Given the description of an element on the screen output the (x, y) to click on. 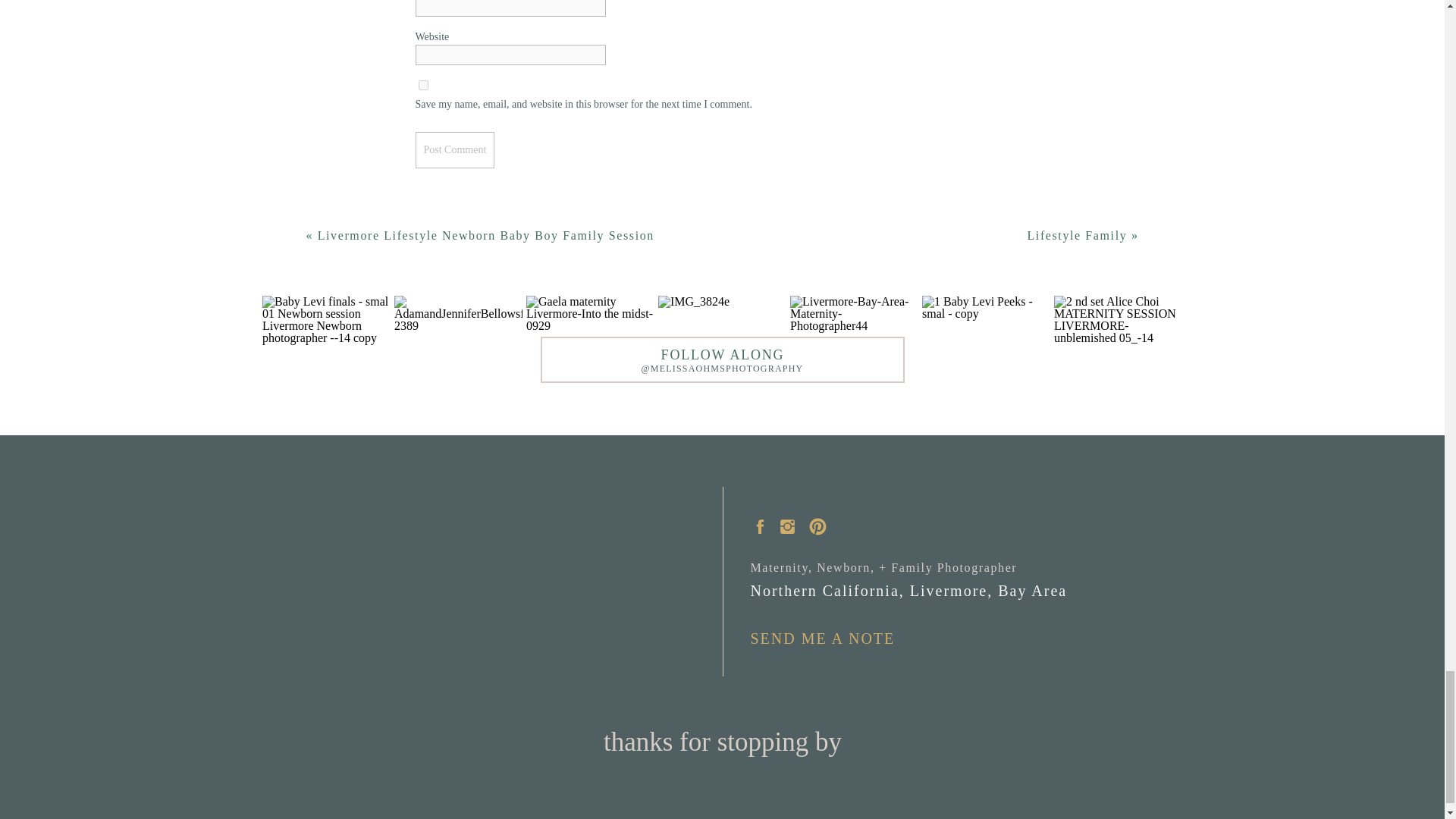
yes (423, 85)
FOLLOW ALONG (722, 353)
SEND ME A NOTE (830, 638)
Livermore Lifestyle Newborn Baby Boy Family Session (485, 235)
Lifestyle Family (1076, 235)
Post Comment (454, 149)
Post Comment (454, 149)
